Given the description of an element on the screen output the (x, y) to click on. 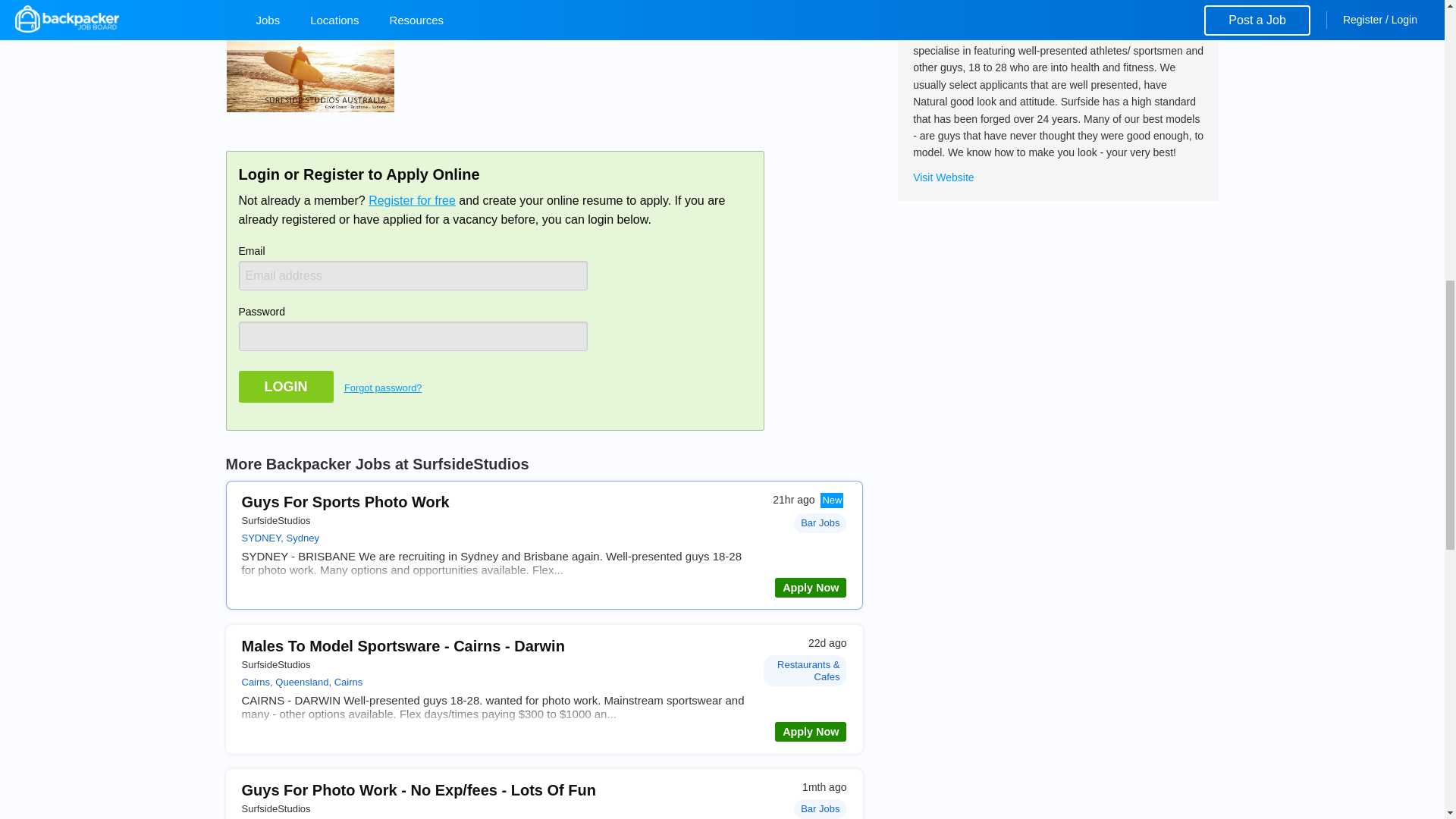
Guys For Sports Photo Work (809, 587)
Visit Website (943, 177)
Males To Model Sportsware - Cairns - Darwin (402, 646)
Males To Model Sportsware - Cairns - Darwin (402, 646)
LOGIN (285, 386)
Register for free (411, 200)
Forgot password? (382, 387)
Males To Model Sportsware - Cairns - Darwin (809, 731)
Apply Now (809, 731)
Guys For Sports Photo Work (344, 501)
Guys For Sports Photo Work (344, 501)
Apply Now (809, 587)
SurfsideStudios website (943, 177)
